Given the description of an element on the screen output the (x, y) to click on. 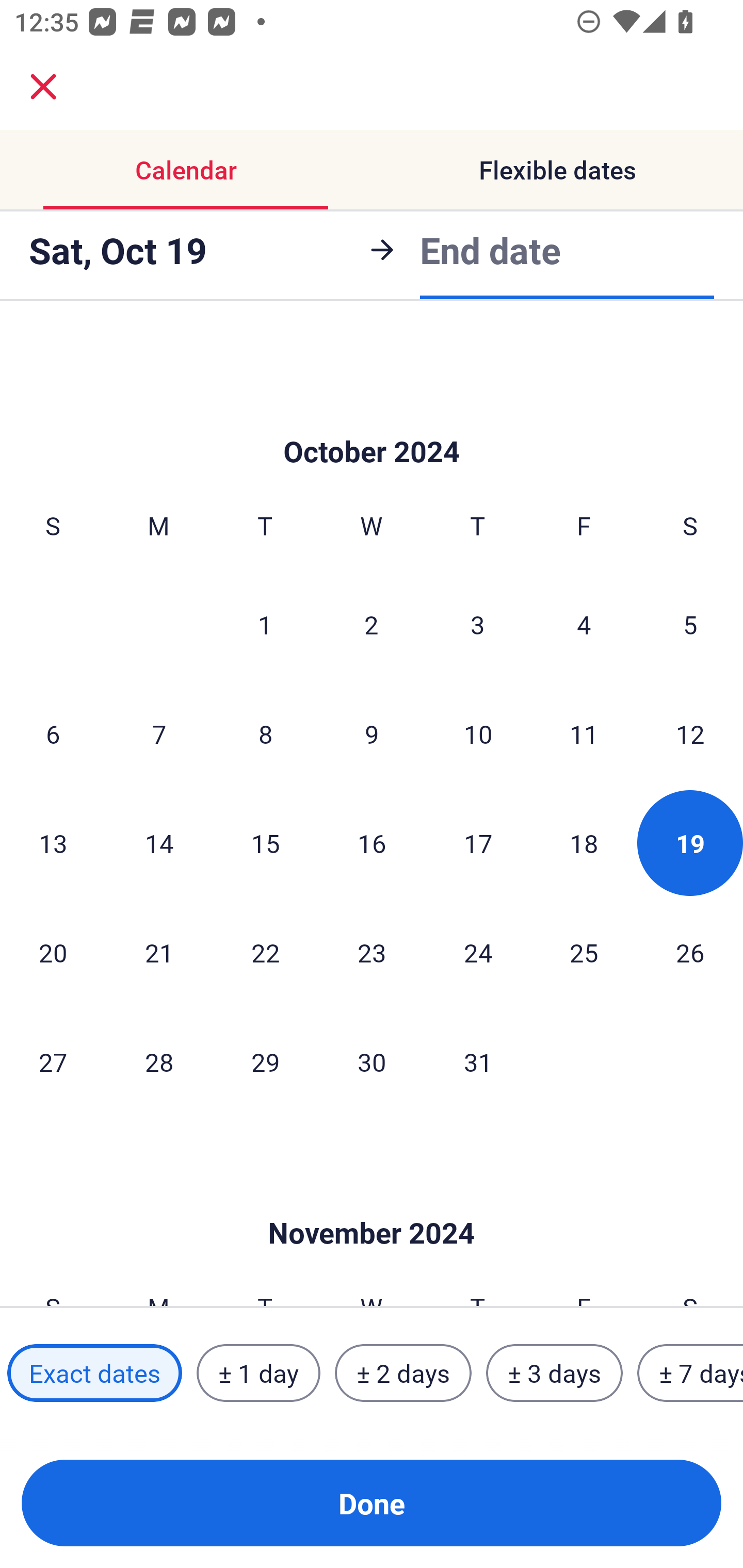
close. (43, 86)
Flexible dates (557, 170)
End date (489, 249)
Skip to Done (371, 420)
1 Tuesday, October 1, 2024 (264, 623)
2 Wednesday, October 2, 2024 (371, 623)
3 Thursday, October 3, 2024 (477, 623)
4 Friday, October 4, 2024 (584, 623)
5 Saturday, October 5, 2024 (690, 623)
6 Sunday, October 6, 2024 (53, 733)
7 Monday, October 7, 2024 (159, 733)
8 Tuesday, October 8, 2024 (265, 733)
9 Wednesday, October 9, 2024 (371, 733)
10 Thursday, October 10, 2024 (477, 733)
11 Friday, October 11, 2024 (584, 733)
12 Saturday, October 12, 2024 (690, 733)
13 Sunday, October 13, 2024 (53, 842)
14 Monday, October 14, 2024 (159, 842)
15 Tuesday, October 15, 2024 (265, 842)
16 Wednesday, October 16, 2024 (371, 842)
17 Thursday, October 17, 2024 (477, 842)
18 Friday, October 18, 2024 (584, 842)
20 Sunday, October 20, 2024 (53, 952)
21 Monday, October 21, 2024 (159, 952)
22 Tuesday, October 22, 2024 (265, 952)
23 Wednesday, October 23, 2024 (371, 952)
24 Thursday, October 24, 2024 (477, 952)
25 Friday, October 25, 2024 (584, 952)
26 Saturday, October 26, 2024 (690, 952)
27 Sunday, October 27, 2024 (53, 1061)
28 Monday, October 28, 2024 (159, 1061)
29 Tuesday, October 29, 2024 (265, 1061)
30 Wednesday, October 30, 2024 (371, 1061)
31 Thursday, October 31, 2024 (477, 1061)
Skip to Done (371, 1201)
Exact dates (94, 1372)
± 1 day (258, 1372)
± 2 days (403, 1372)
± 3 days (553, 1372)
± 7 days (690, 1372)
Done (371, 1502)
